Given the description of an element on the screen output the (x, y) to click on. 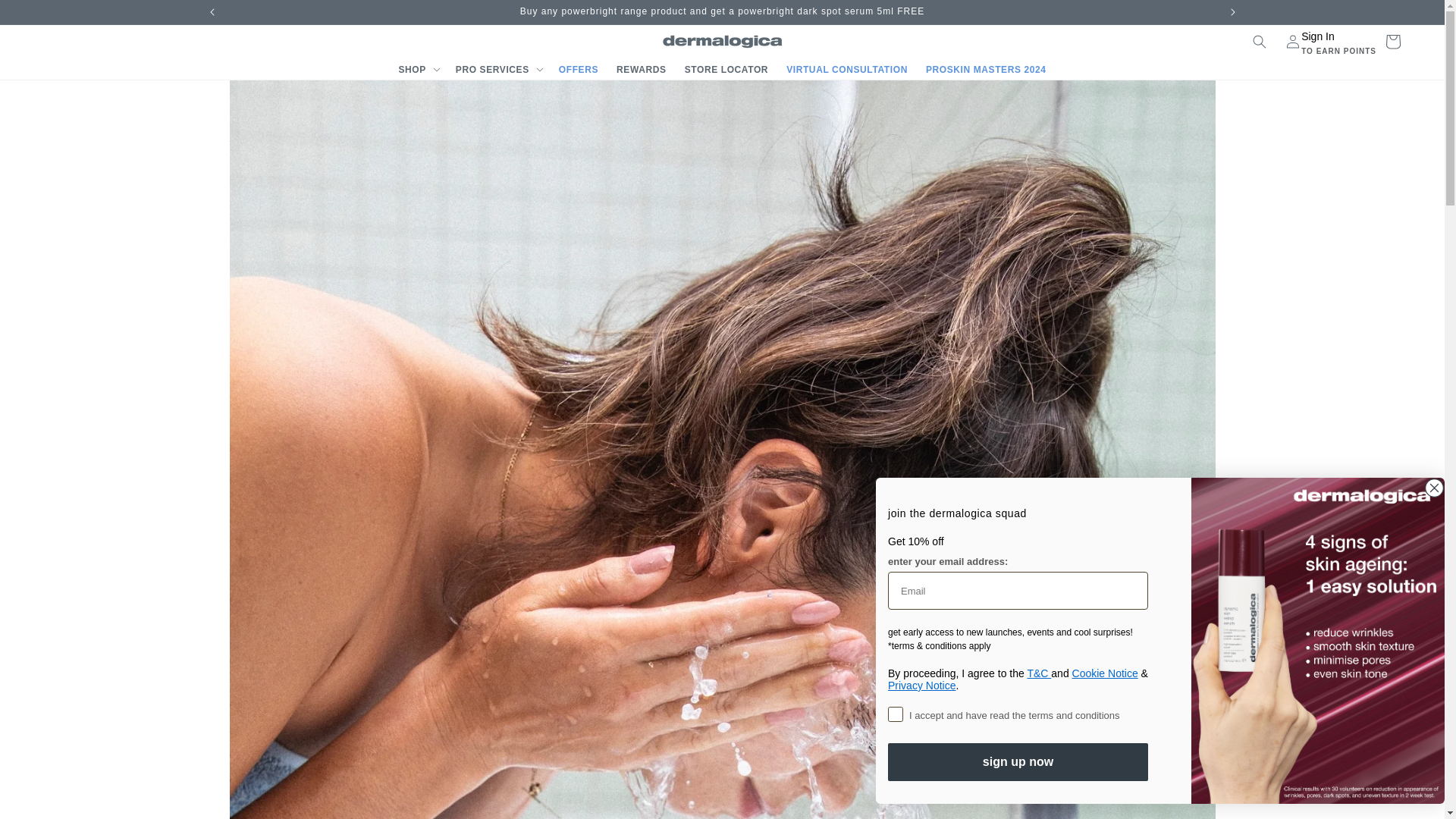
Close dialog 1 (1434, 487)
Skip to content (45, 16)
